Given the description of an element on the screen output the (x, y) to click on. 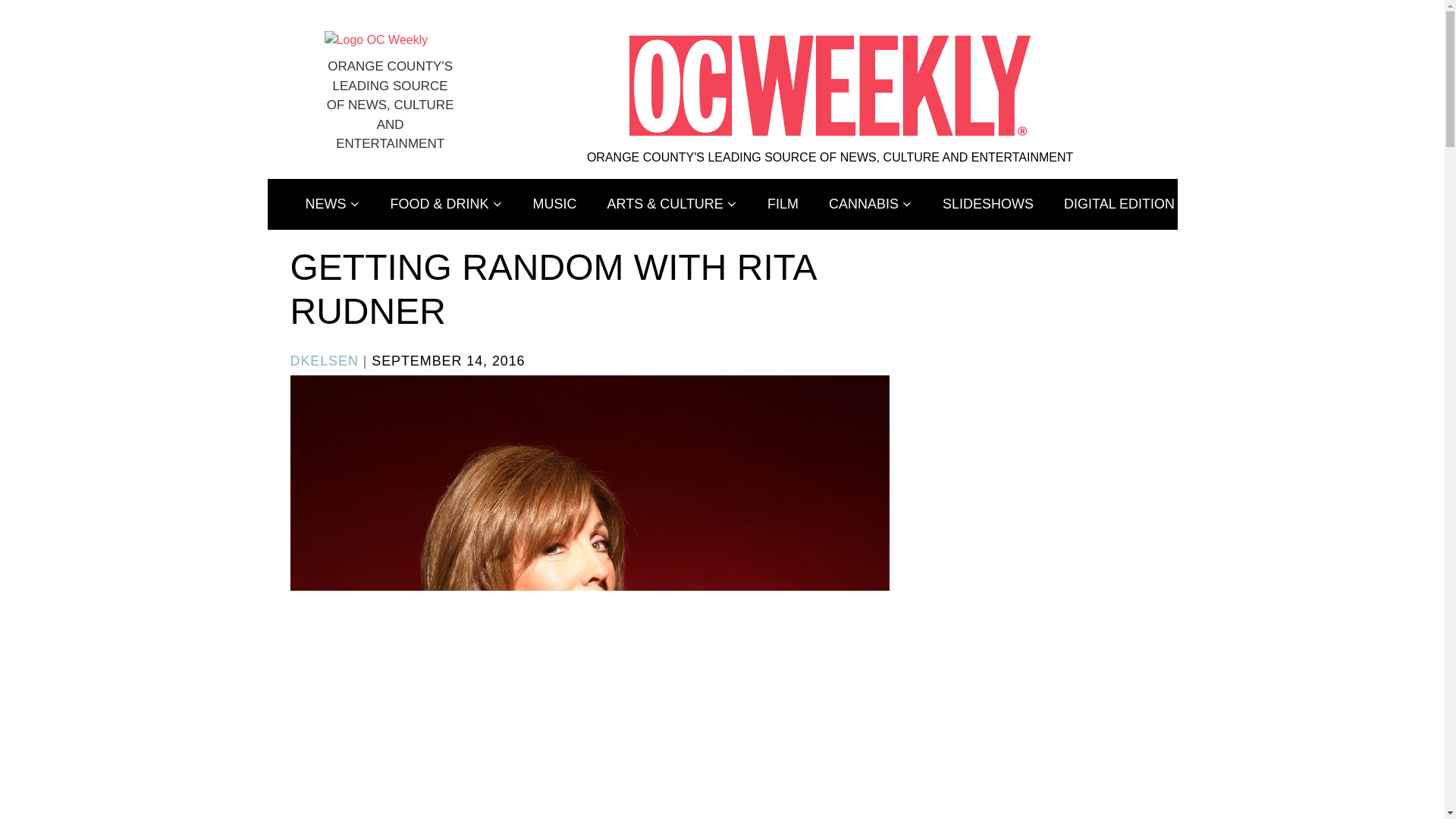
FILM (782, 204)
CANNABIS (870, 204)
DIGITAL EDITION (1118, 204)
MUSIC (555, 204)
OC Weekly (376, 39)
NEWS (331, 204)
News (331, 204)
SLIDESHOWS (987, 204)
